Given the description of an element on the screen output the (x, y) to click on. 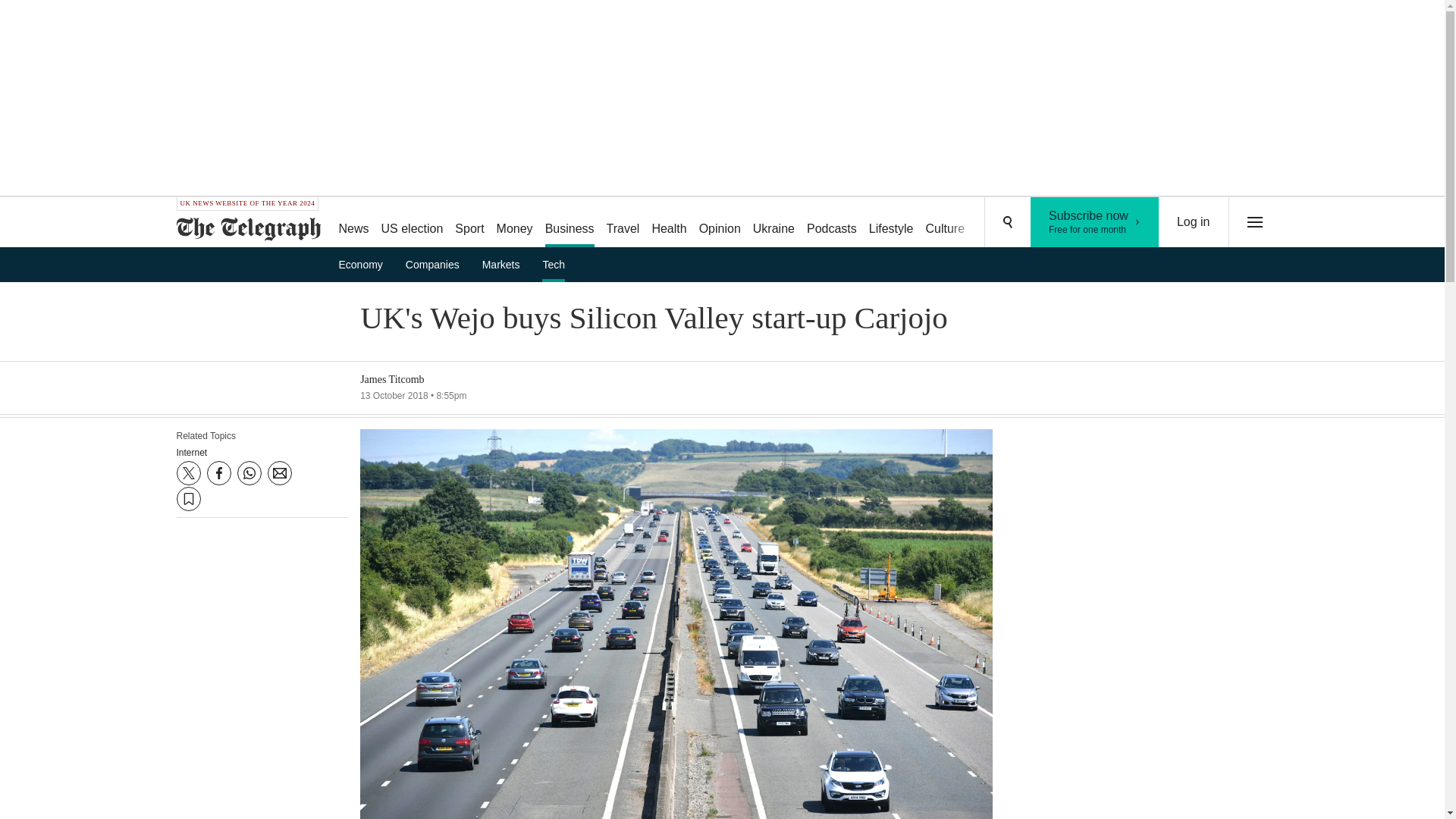
Economy (364, 264)
Opinion (719, 223)
Health (669, 223)
Companies (437, 264)
Ukraine (773, 223)
Money (514, 223)
Log in (1193, 222)
Puzzles (998, 223)
Lifestyle (891, 223)
US election (412, 223)
Travel (622, 223)
Business (568, 223)
Podcasts (831, 223)
Culture (944, 223)
